Given the description of an element on the screen output the (x, y) to click on. 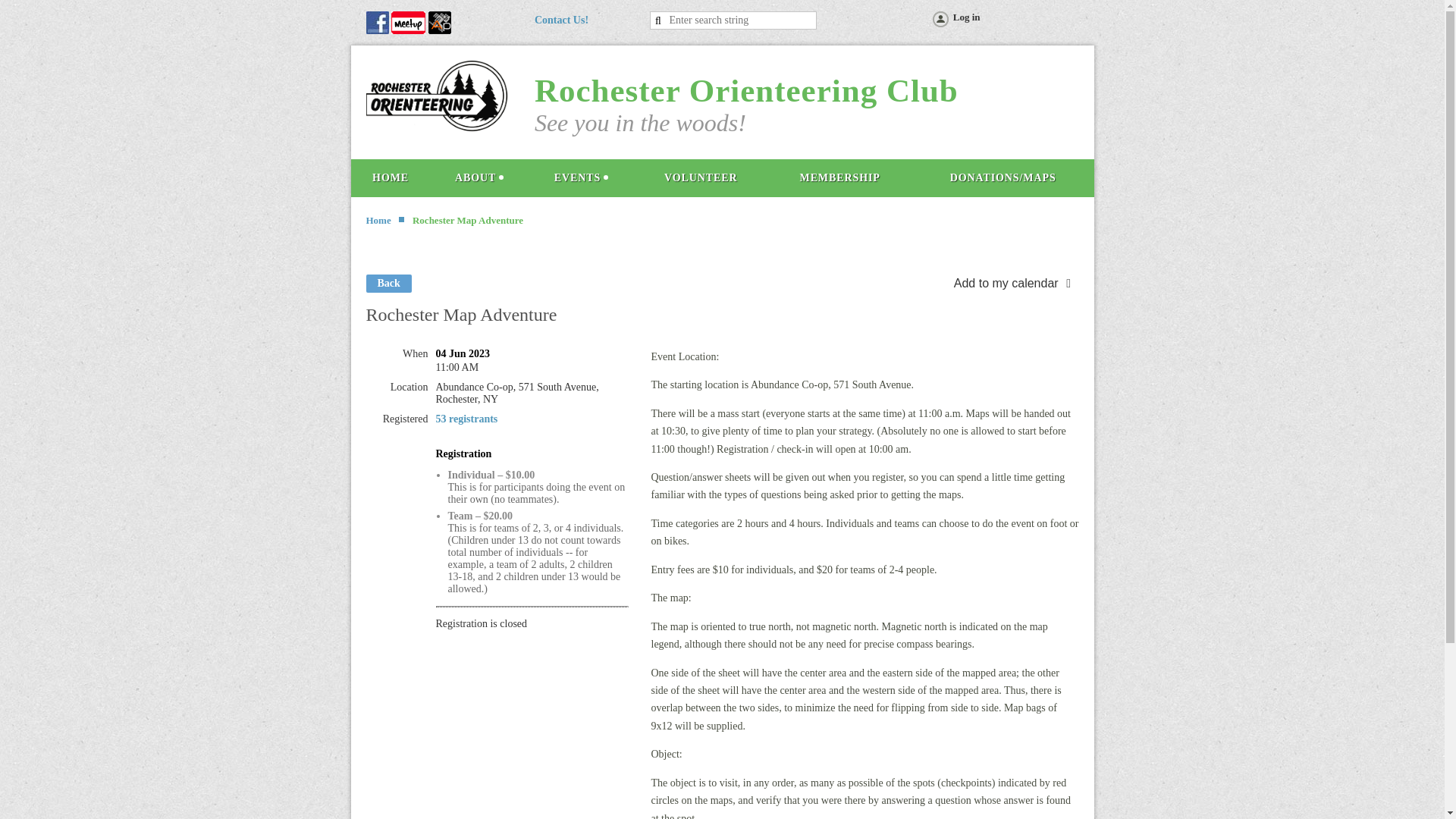
Volunteer (700, 177)
53 registrants (466, 419)
Home (377, 220)
EVENTS (581, 177)
HOME (389, 177)
Home (389, 177)
Log in (954, 20)
Back (387, 283)
Membership (839, 177)
Events (581, 177)
VOLUNTEER (700, 177)
MEMBERSHIP (839, 177)
ABOUT (479, 177)
Contact Us! (561, 19)
About (479, 177)
